Given the description of an element on the screen output the (x, y) to click on. 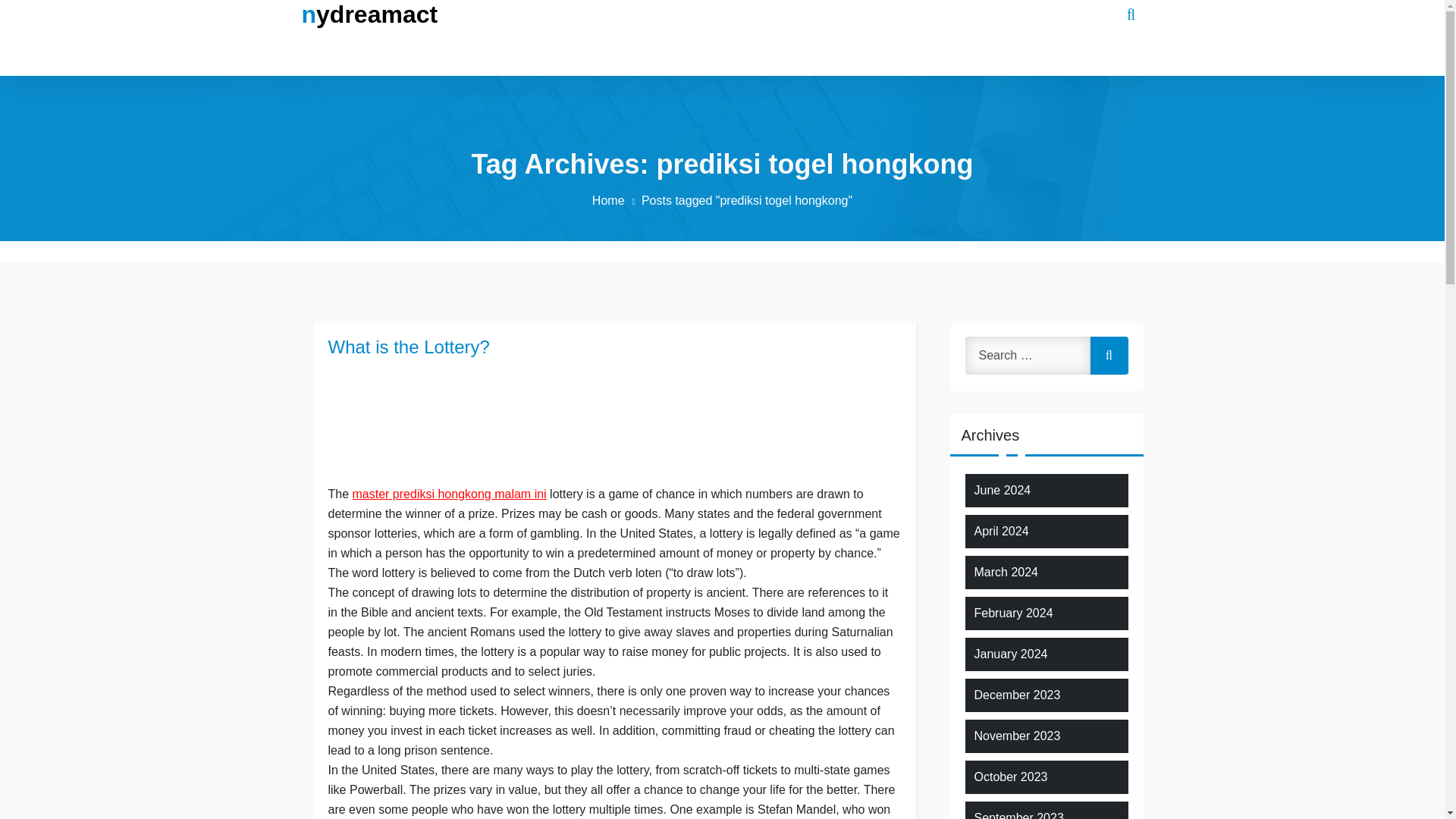
March 2024 (1006, 572)
January 2024 (1010, 654)
June 2024 (1002, 490)
December 2023 (1016, 695)
September 2023 (1018, 814)
nydreamact (369, 14)
February 2024 (1013, 613)
April 2024 (1000, 531)
October 2023 (1010, 777)
master prediksi hongkong malam ini (449, 493)
What is the Lottery? (613, 347)
Home (617, 200)
November 2023 (1016, 736)
